Given the description of an element on the screen output the (x, y) to click on. 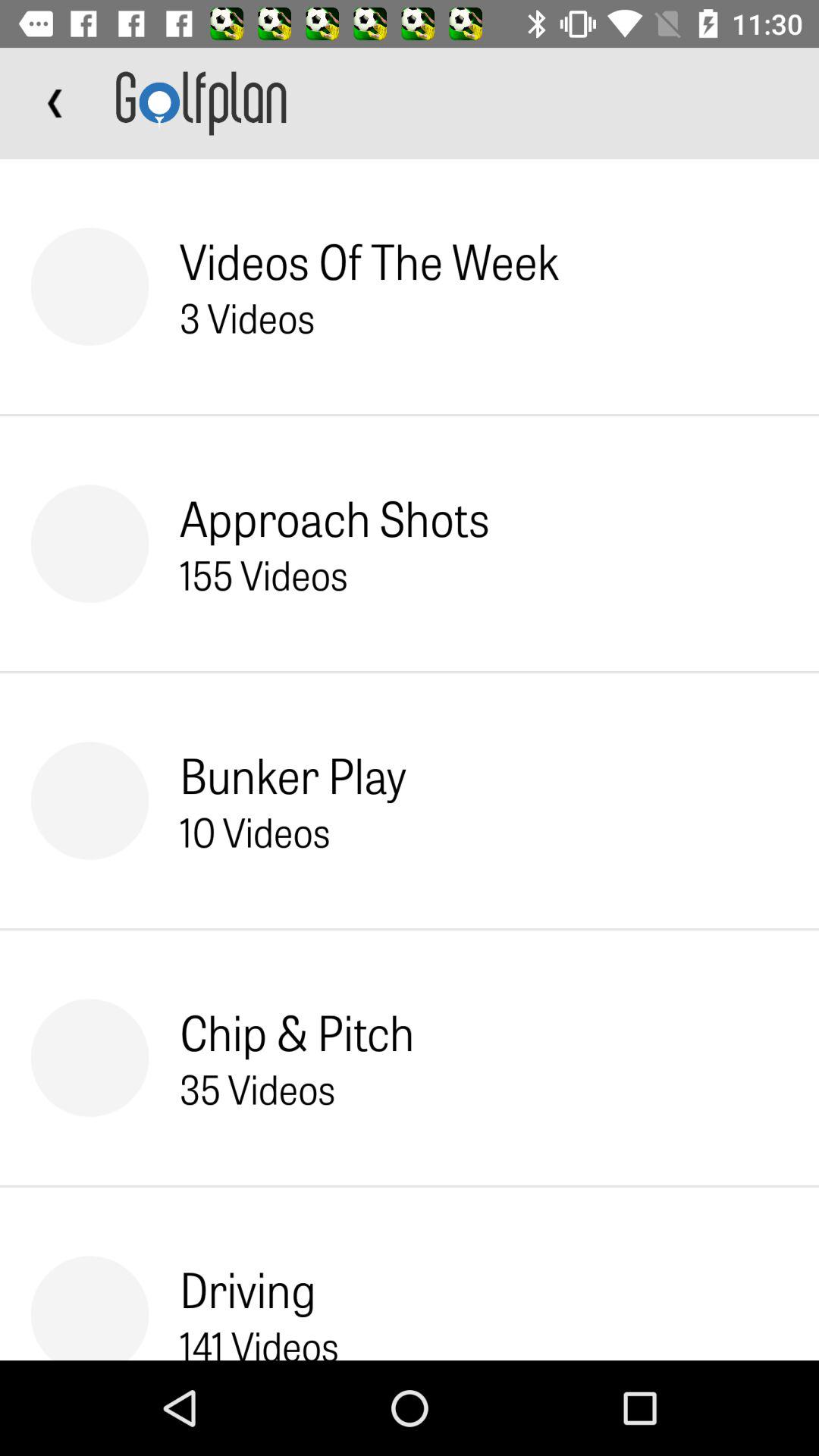
open 155 videos icon (263, 574)
